Given the description of an element on the screen output the (x, y) to click on. 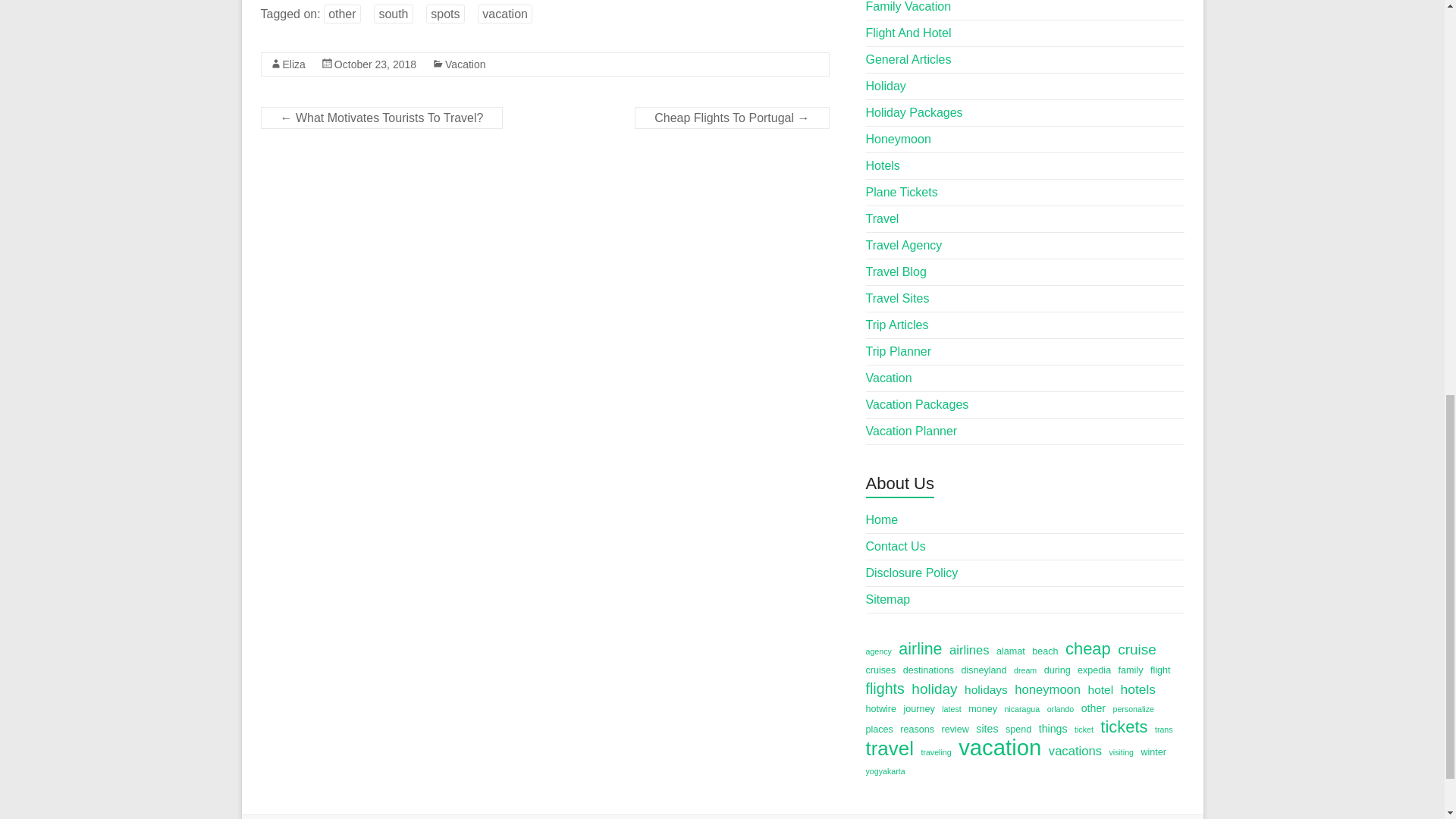
vacation (504, 13)
12:06 am (375, 64)
south (393, 13)
October 23, 2018 (375, 64)
other (341, 13)
Eliza (293, 64)
Vacation (464, 64)
spots (445, 13)
